Given the description of an element on the screen output the (x, y) to click on. 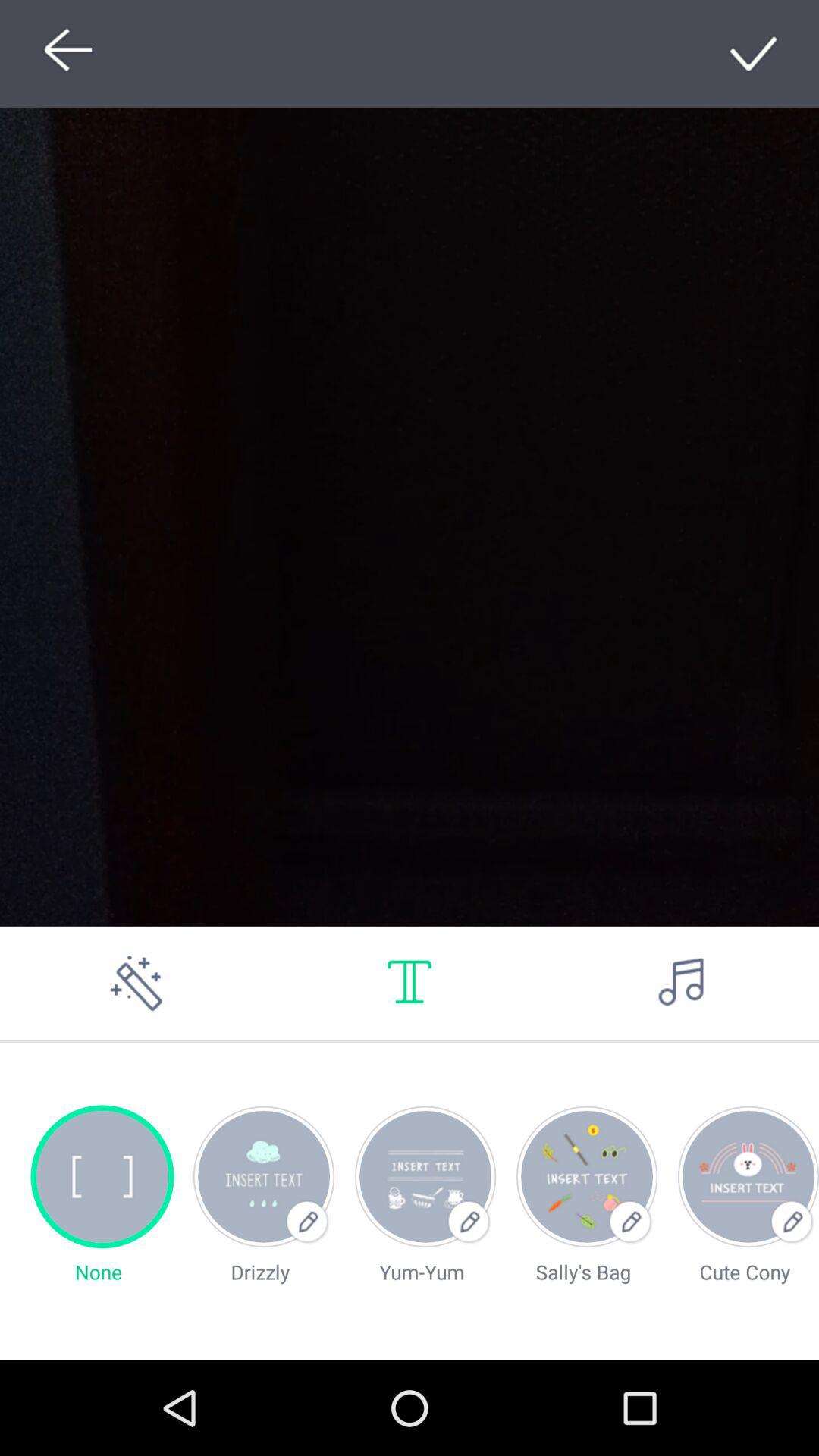
add special effects (136, 983)
